Given the description of an element on the screen output the (x, y) to click on. 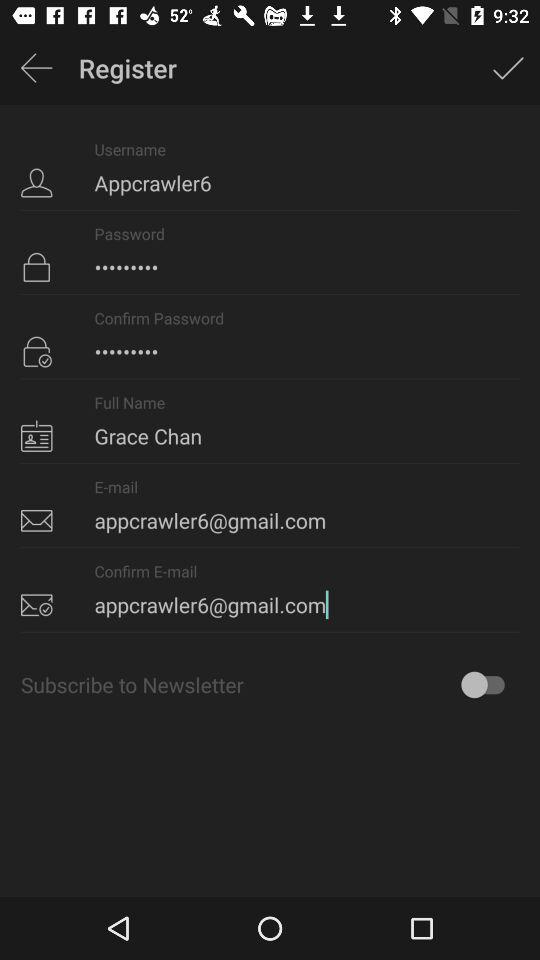
click item next to the register icon (36, 68)
